Given the description of an element on the screen output the (x, y) to click on. 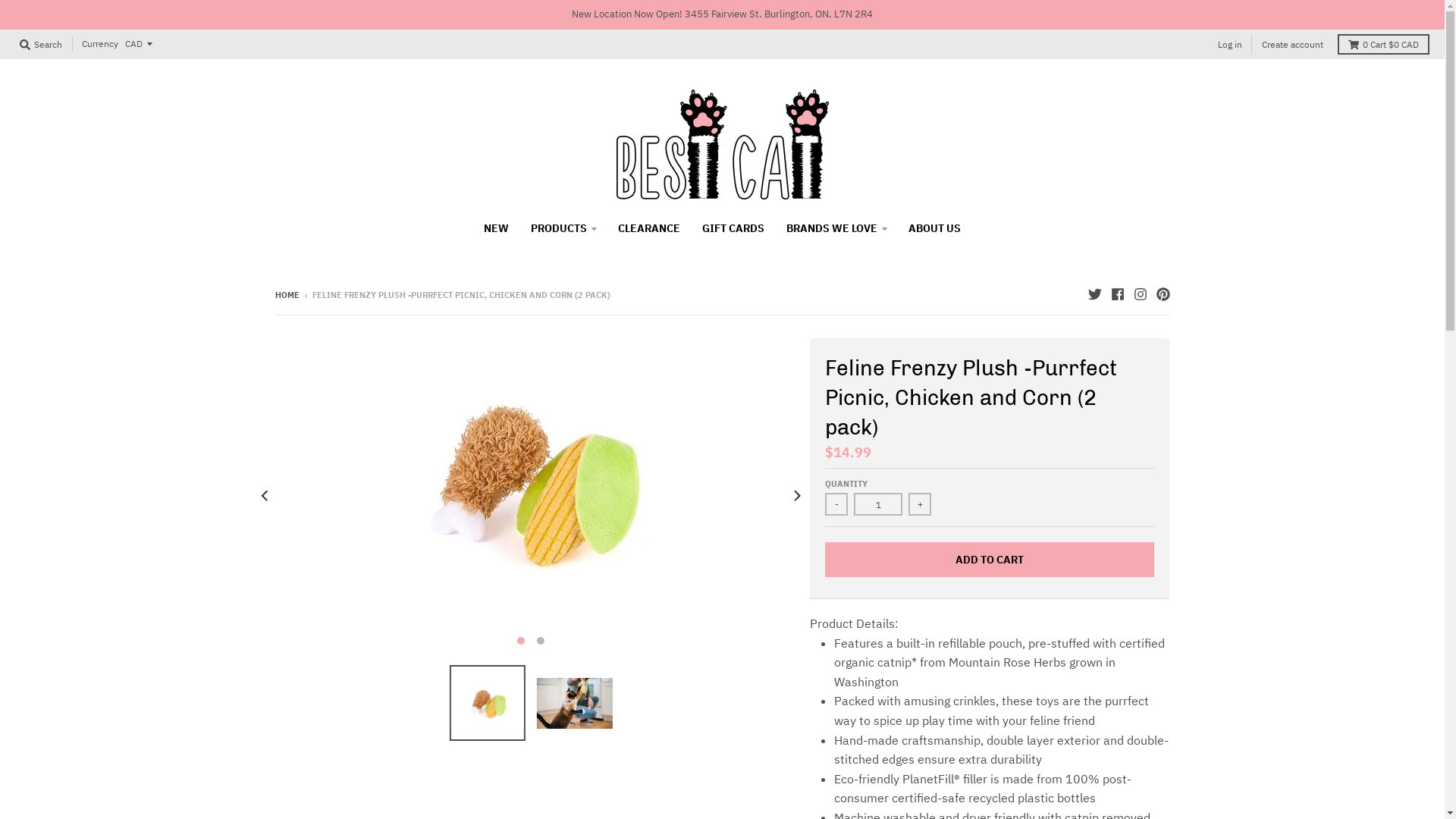
GIFT CARDS Element type: text (733, 227)
CLEARANCE Element type: text (649, 227)
Create account Element type: text (1292, 44)
Log in Element type: text (1229, 44)
PRODUCTS Element type: text (562, 227)
ADD TO CART Element type: text (989, 559)
+ Element type: text (919, 503)
- Element type: text (836, 503)
HOME Element type: text (286, 294)
Search Element type: text (40, 44)
0 Cart $0 CAD Element type: text (1383, 44)
ABOUT US Element type: text (934, 227)
Twitter - Best Cat  Element type: hover (1094, 294)
BRANDS WE LOVE Element type: text (836, 227)
NEW Element type: text (495, 227)
Facebook - Best Cat  Element type: hover (1116, 294)
Pinterest - Best Cat  Element type: hover (1162, 294)
Instagram - Best Cat  Element type: hover (1139, 294)
